Given the description of an element on the screen output the (x, y) to click on. 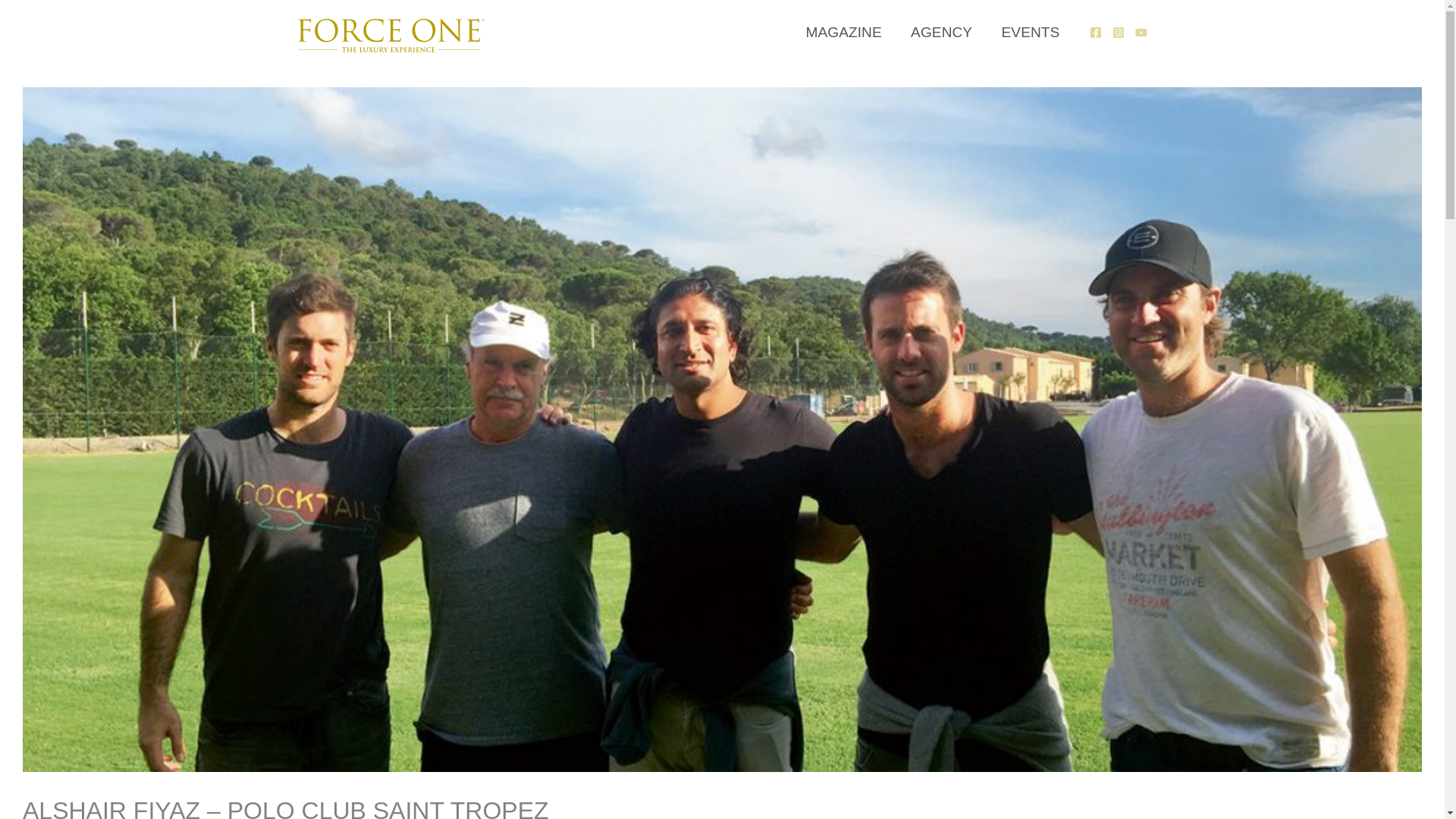
MAGAZINE (843, 31)
EVENTS (1030, 31)
AGENCY (941, 31)
